Given the description of an element on the screen output the (x, y) to click on. 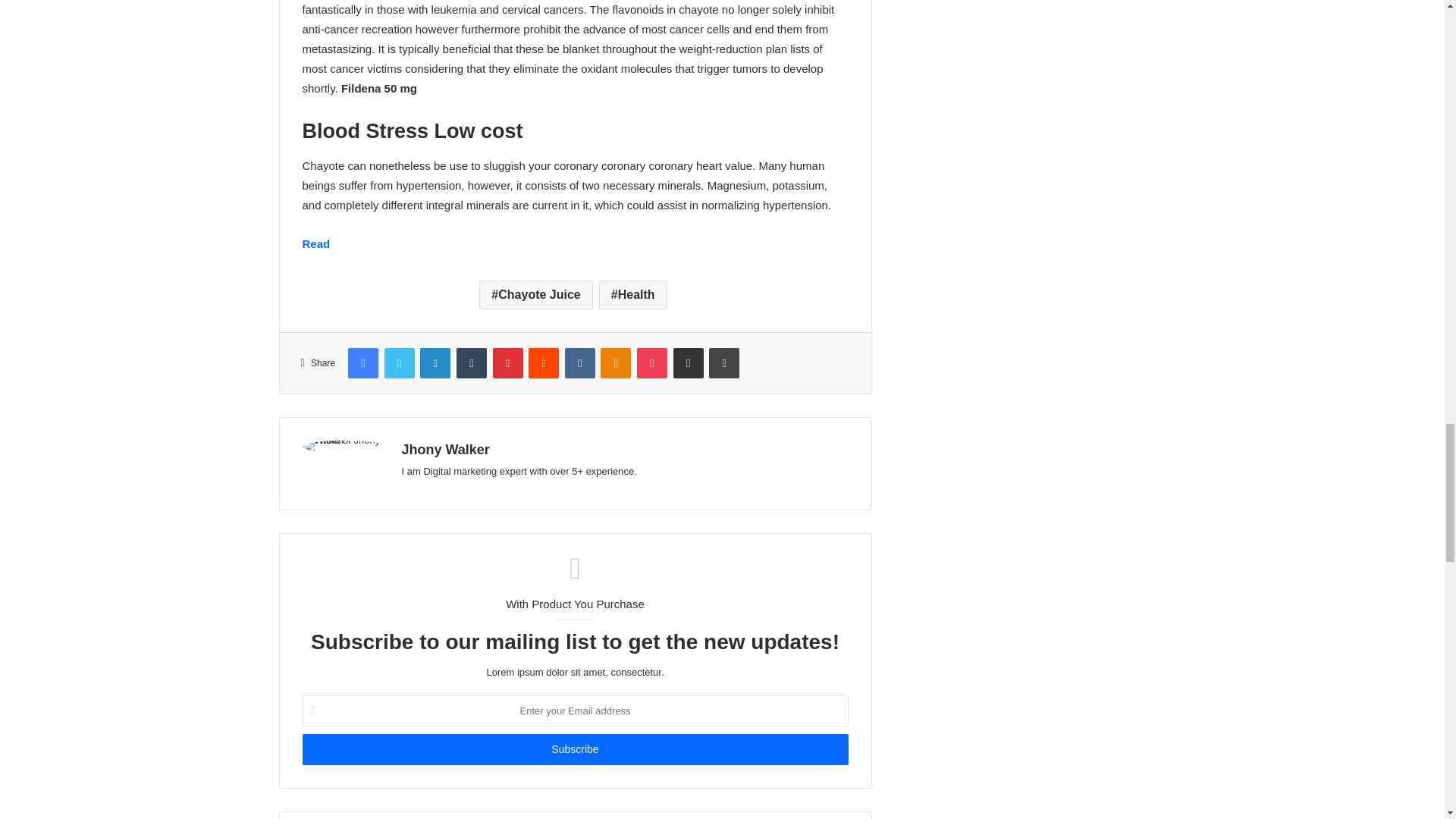
Subscribe (574, 748)
